Given the description of an element on the screen output the (x, y) to click on. 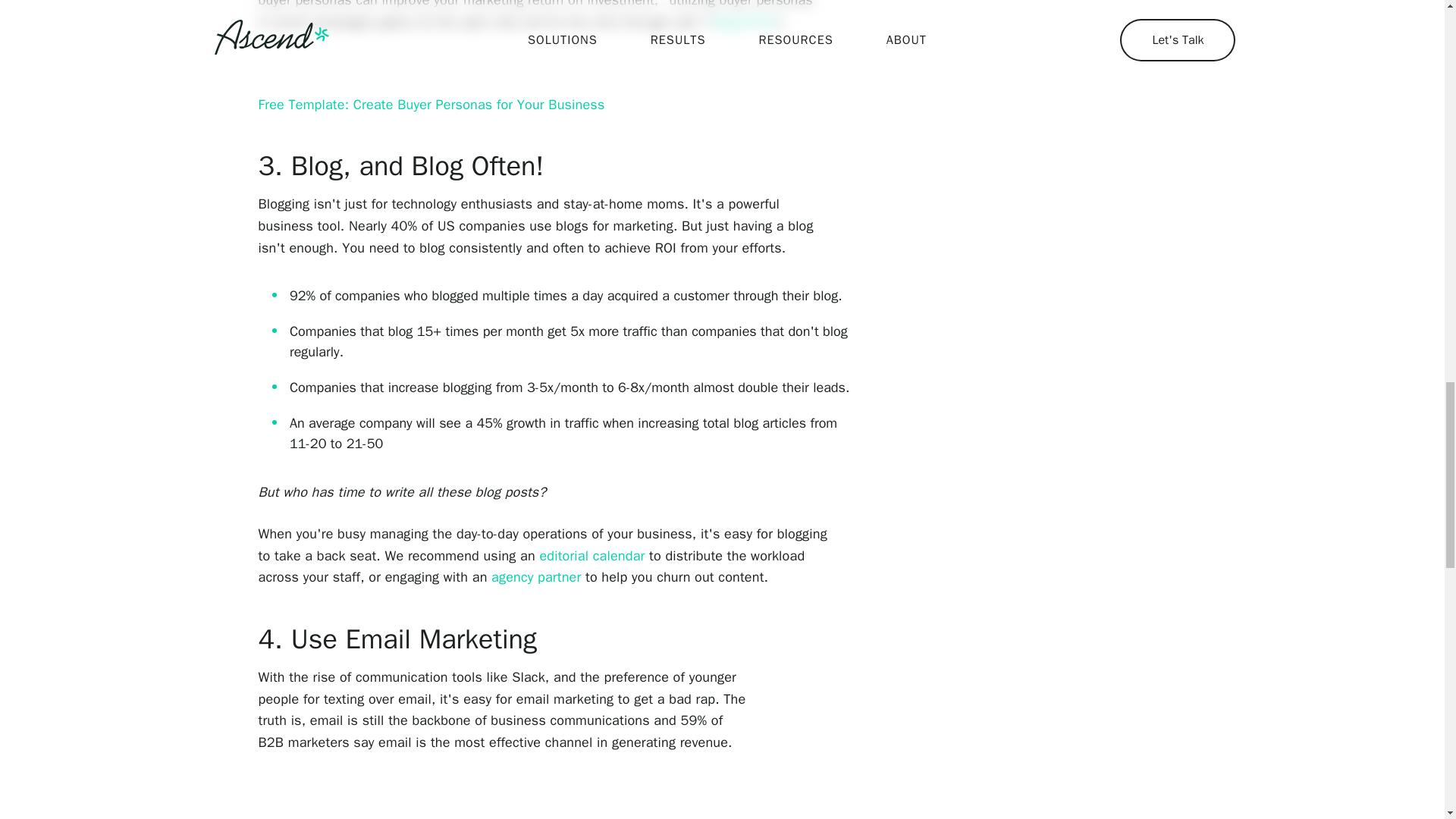
agency partner (536, 576)
Free Template: Create Buyer Personas for Your Business  (432, 104)
BrightTALK (744, 21)
editorial calendar (591, 555)
